Given the description of an element on the screen output the (x, y) to click on. 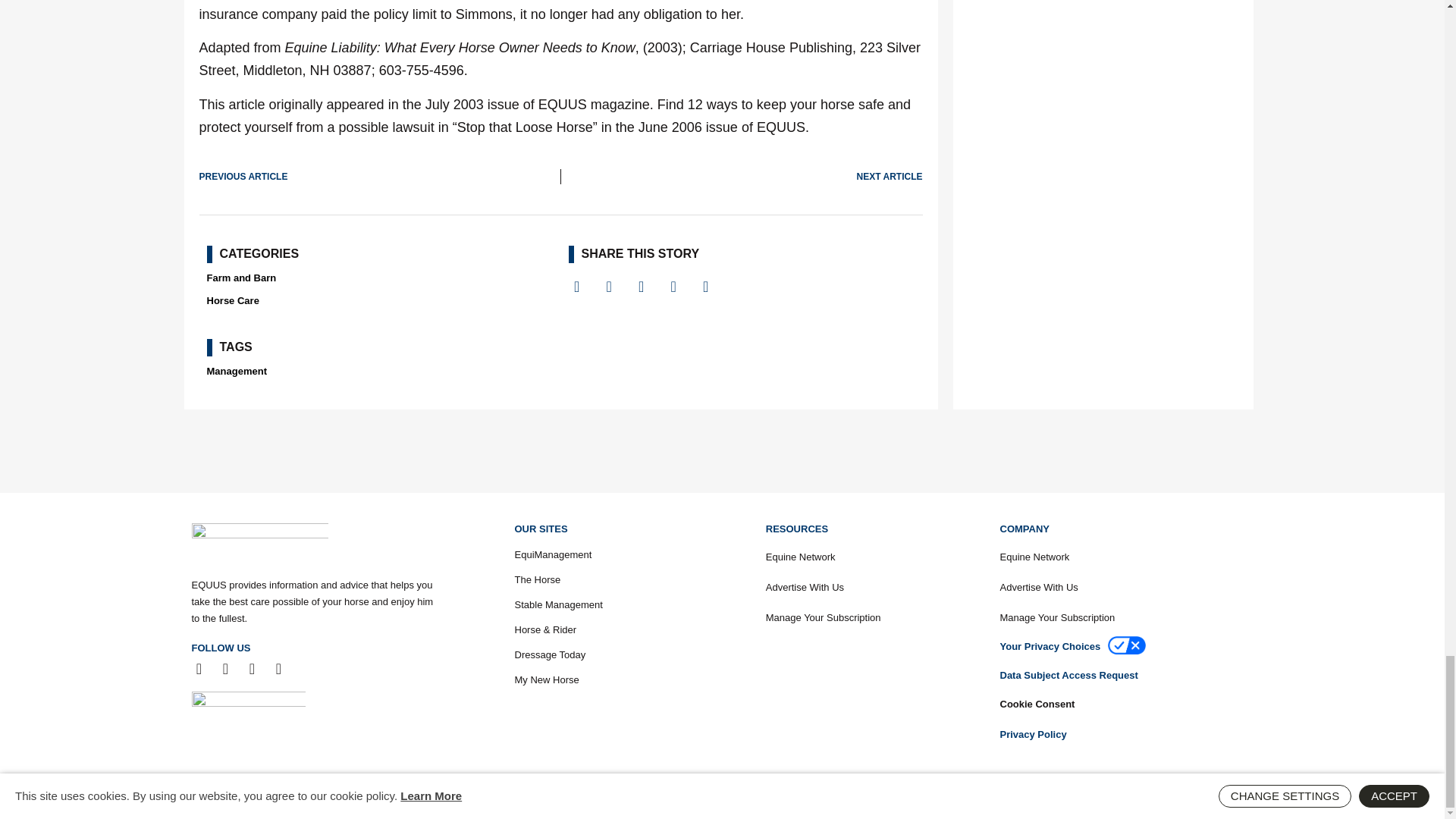
3rd party ad content (721, 450)
